Given the description of an element on the screen output the (x, y) to click on. 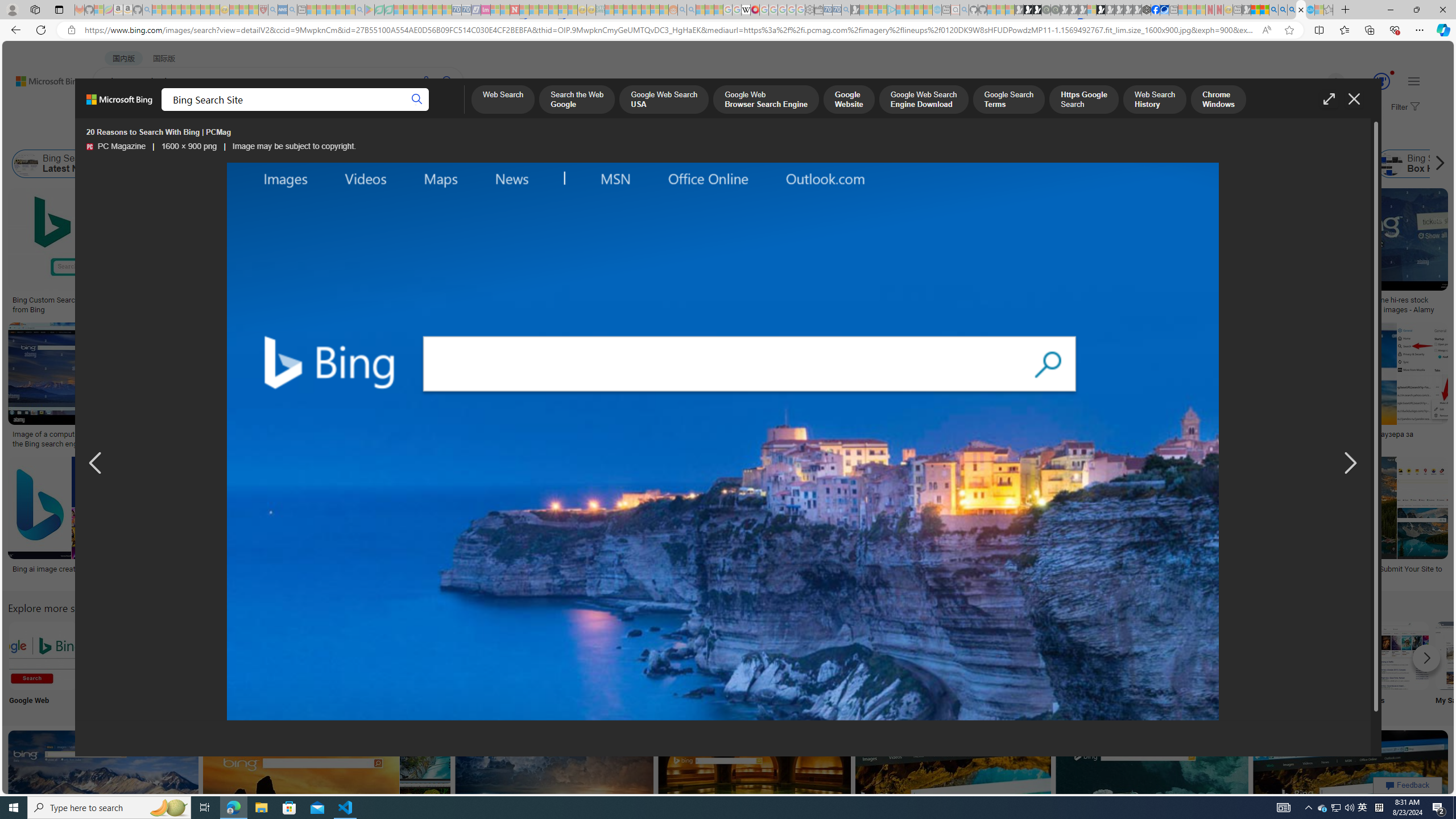
Local - MSN - Sleeping (253, 9)
Google Web Browser Search Engine (764, 100)
FIX: Downloading proxy script message on Google ChromeSave (529, 521)
Microsoft Bing, Back to Bing search (118, 104)
Bing Clip ART SEARCH Clip Art (493, 665)
Bing T-Shirts (802, 227)
